Given the description of an element on the screen output the (x, y) to click on. 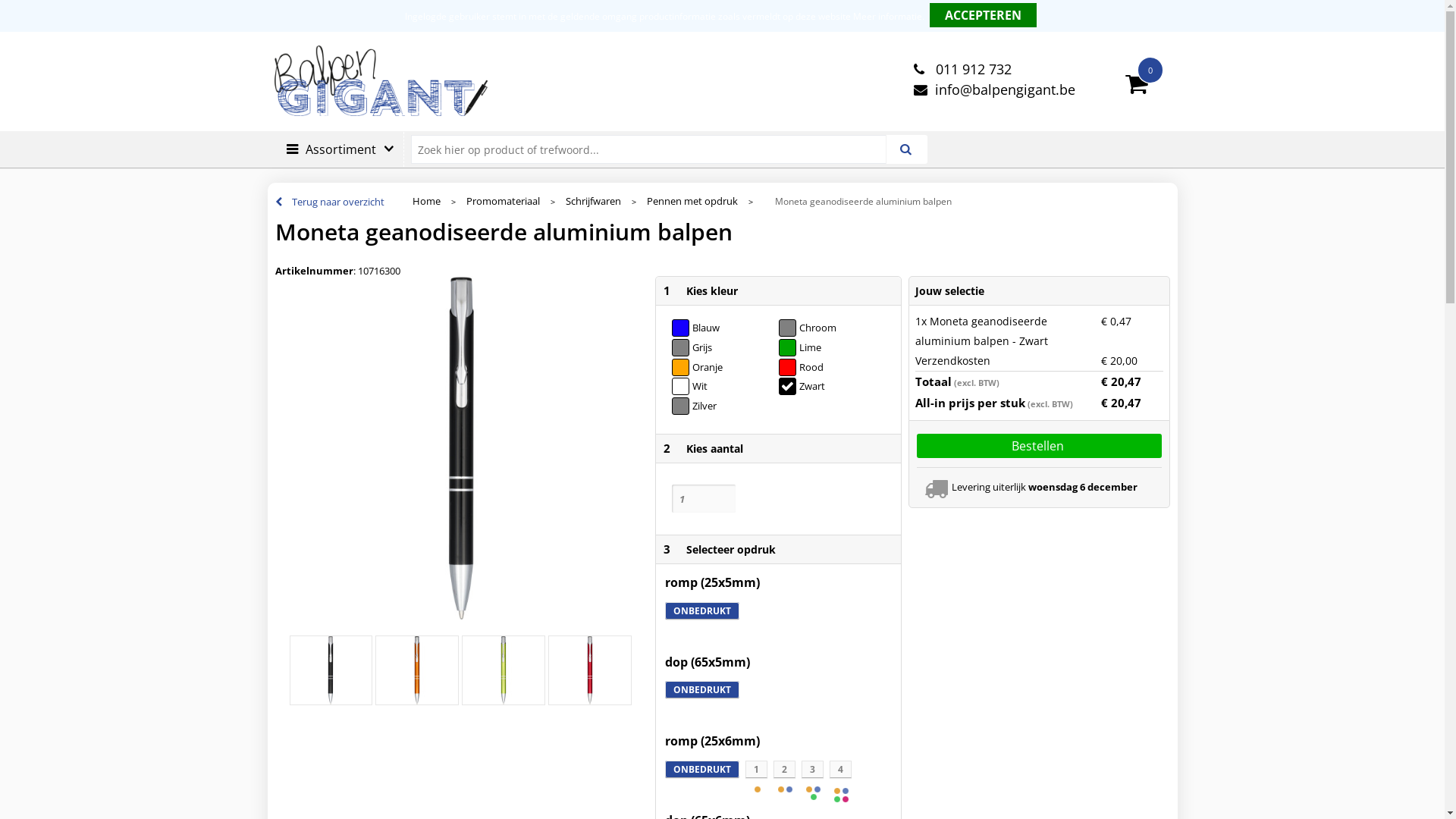
Terug naar overzicht Element type: text (328, 201)
Pennen met opdruk Element type: text (691, 201)
Meer informatie Element type: text (887, 15)
Moneta geanodiseerde aluminium balpen Element type: hover (461, 448)
Home Element type: text (426, 201)
0 Element type: text (1150, 69)
info@balpengigant.be Element type: text (991, 89)
Moneta geanodiseerde aluminium balpen - Zwart Element type: hover (330, 670)
011 912 732 Element type: text (959, 69)
Moneta geanodiseerde aluminium balpen - Lime Element type: hover (503, 670)
Schrijfwaren Element type: text (593, 201)
Moneta geanodiseerde aluminium balpen - Oranje Element type: hover (416, 670)
Moneta geanodiseerde aluminium balpen - Rood Element type: hover (589, 670)
Promomateriaal Element type: text (502, 201)
